Given the description of an element on the screen output the (x, y) to click on. 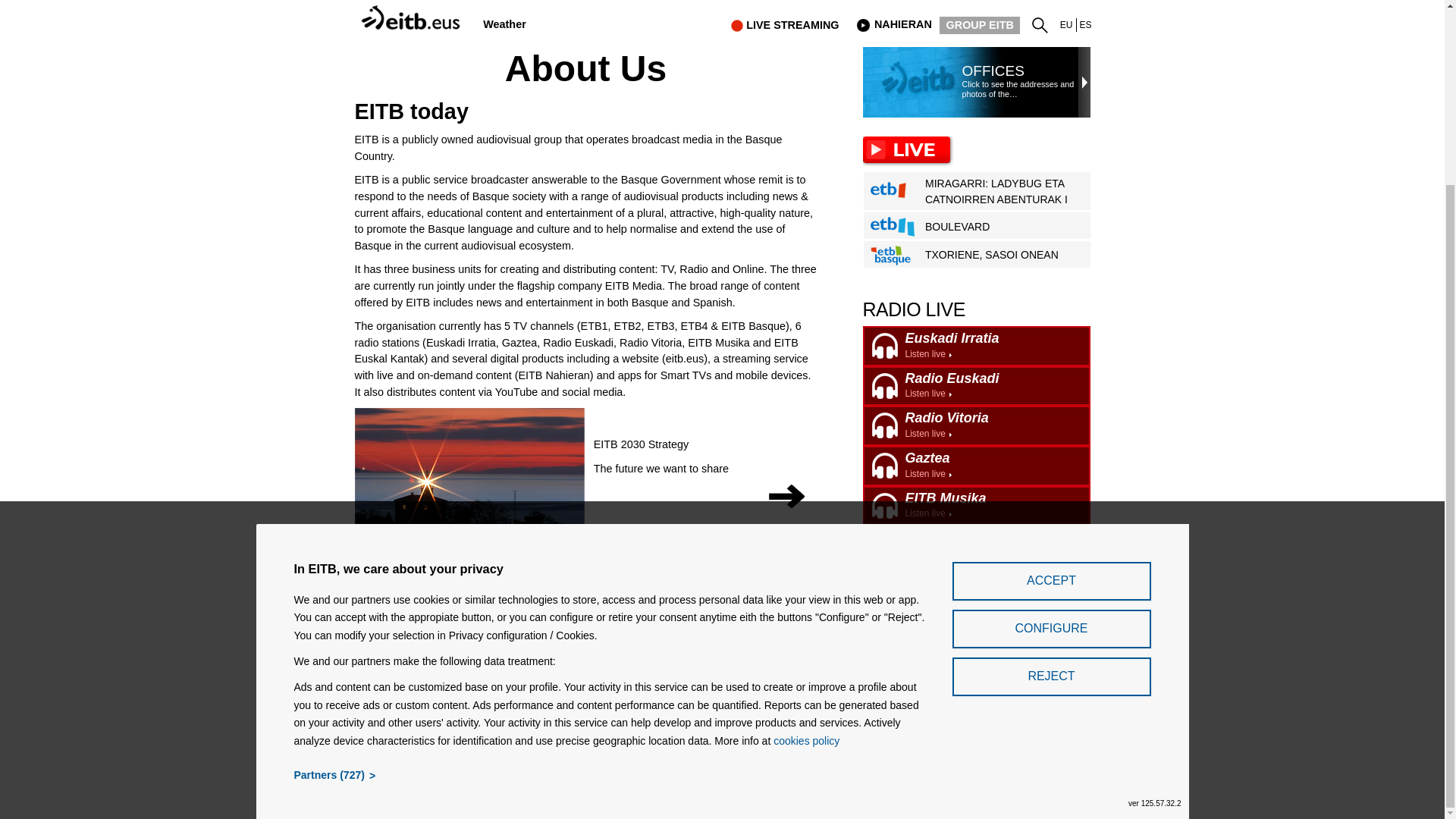
Privacy Policy (541, 732)
TXORIENE, SASOI ONEAN (976, 386)
Euskara (979, 255)
MIRAGARRI: LADYBUG ETA CATNOIRREN ABENTURAK I (1066, 24)
Offices (979, 192)
ES (991, 70)
Bilatu (1086, 24)
EU (1043, 21)
BOULEVARD (1066, 24)
Weather (979, 226)
The future we want to share (504, 24)
EITB 2030 Strategy (661, 473)
